Given the description of an element on the screen output the (x, y) to click on. 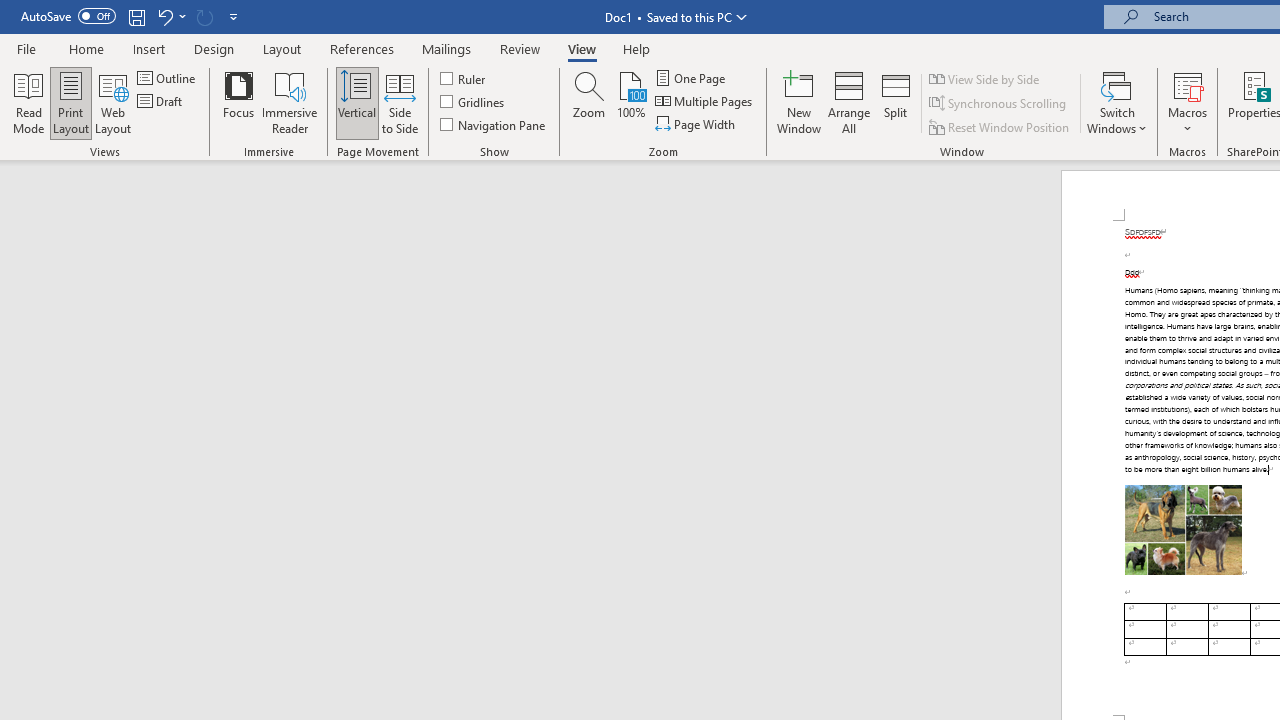
100% (630, 102)
New Window (799, 102)
Morphological variation in six dogs (1183, 530)
Draft (161, 101)
Switch Windows (1117, 102)
Split (895, 102)
Focus (238, 102)
Synchronous Scrolling (998, 103)
Zoom... (589, 102)
Macros (1187, 102)
